Given the description of an element on the screen output the (x, y) to click on. 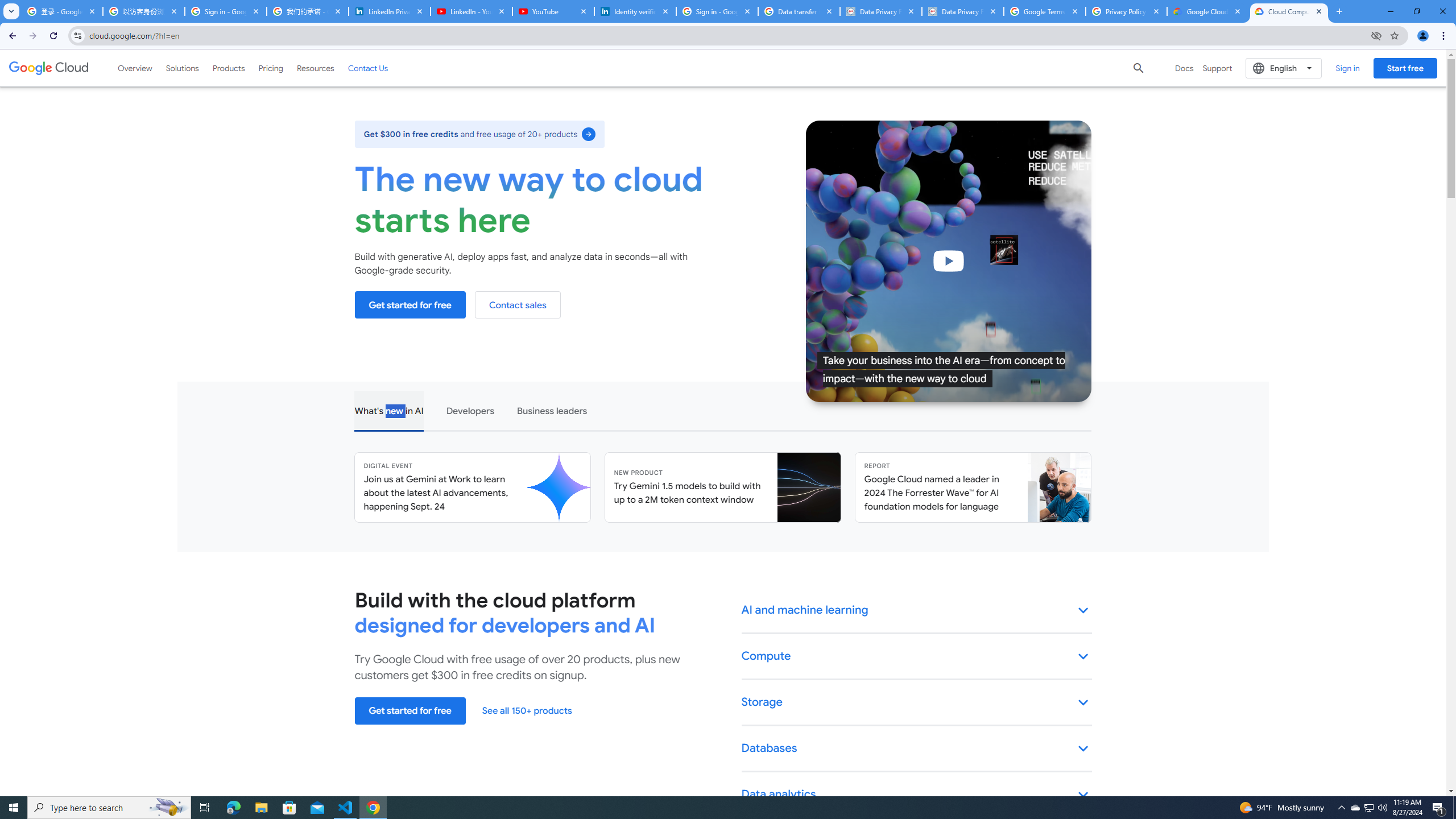
Google Cloud (48, 67)
Resources (314, 67)
AI and machine learning keyboard_arrow_down (916, 610)
Data Privacy Framework (880, 11)
Storage keyboard_arrow_down (916, 702)
Contact Us (368, 67)
